Given the description of an element on the screen output the (x, y) to click on. 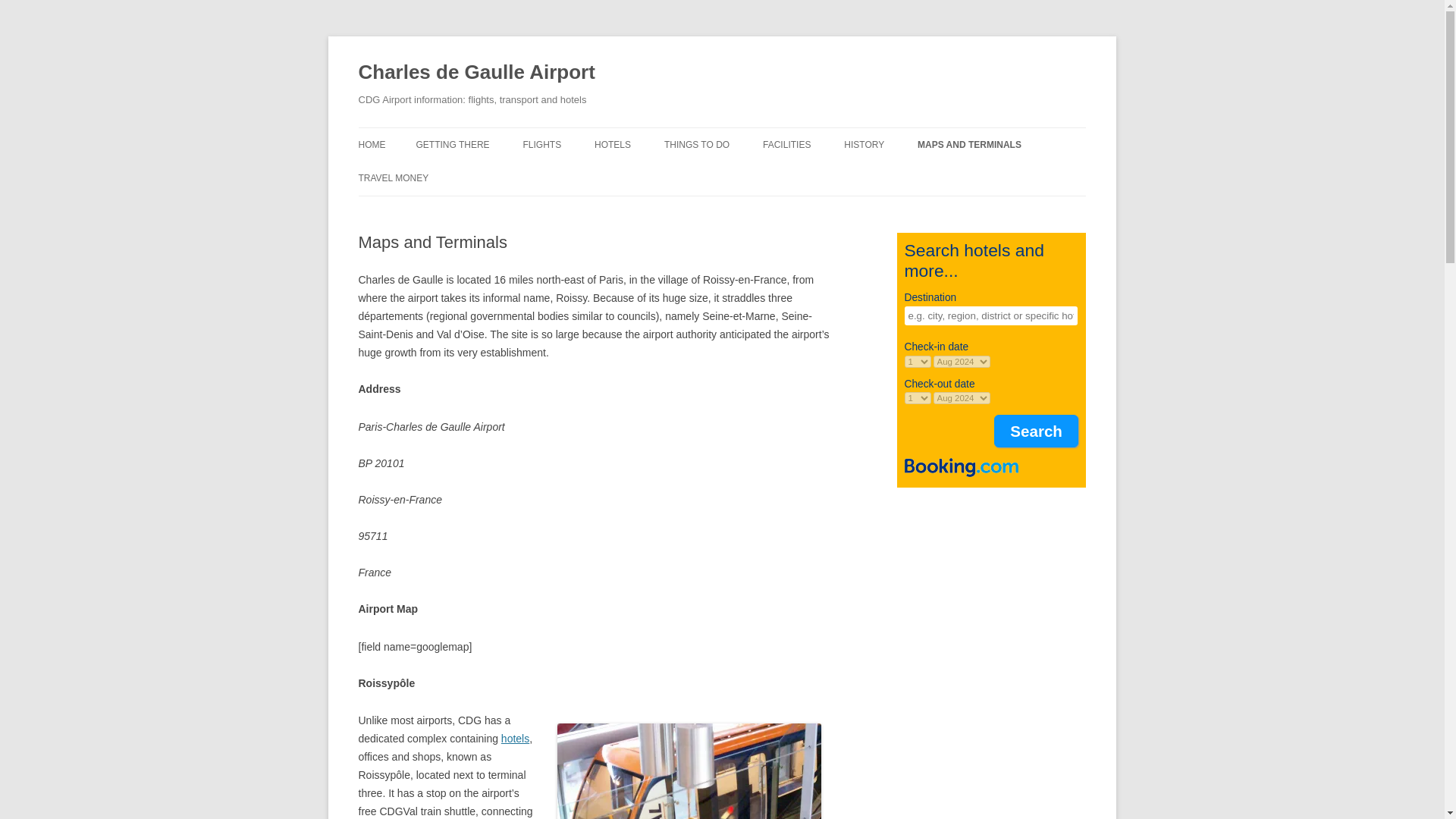
e.g. city, region, district or specific hotel (990, 315)
CDG VAL (689, 771)
AIRLINES (598, 176)
Charles de Gaulle Airport (476, 72)
FACILITIES (786, 144)
HISTORY (863, 144)
GETTING THERE (451, 144)
AIRPORT PARKING (490, 176)
HOTELS (612, 144)
